Given the description of an element on the screen output the (x, y) to click on. 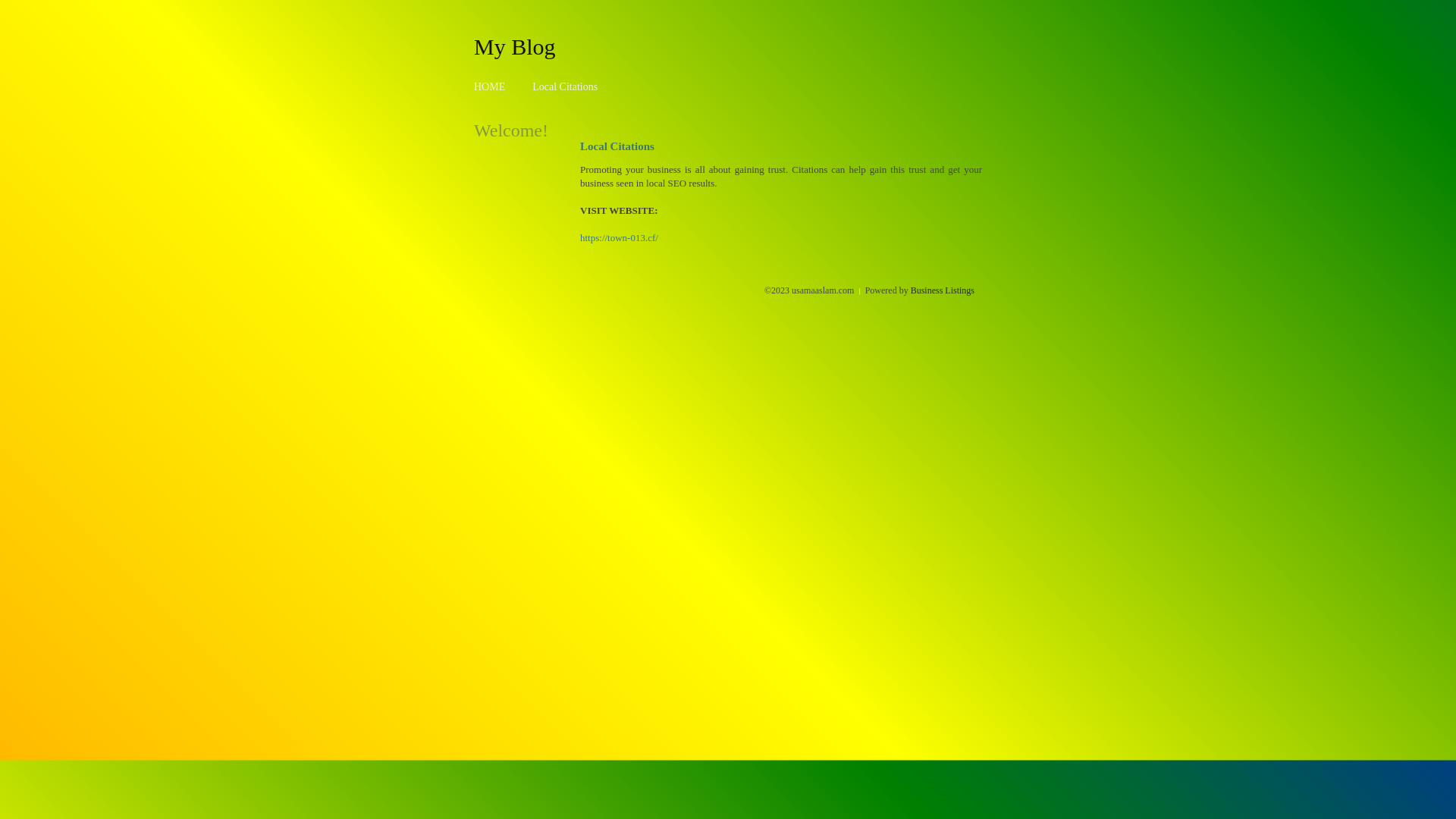
Local Citations Element type: text (564, 86)
HOME Element type: text (489, 86)
Business Listings Element type: text (942, 290)
My Blog Element type: text (514, 46)
https://town-013.cf/ Element type: text (619, 237)
